Given the description of an element on the screen output the (x, y) to click on. 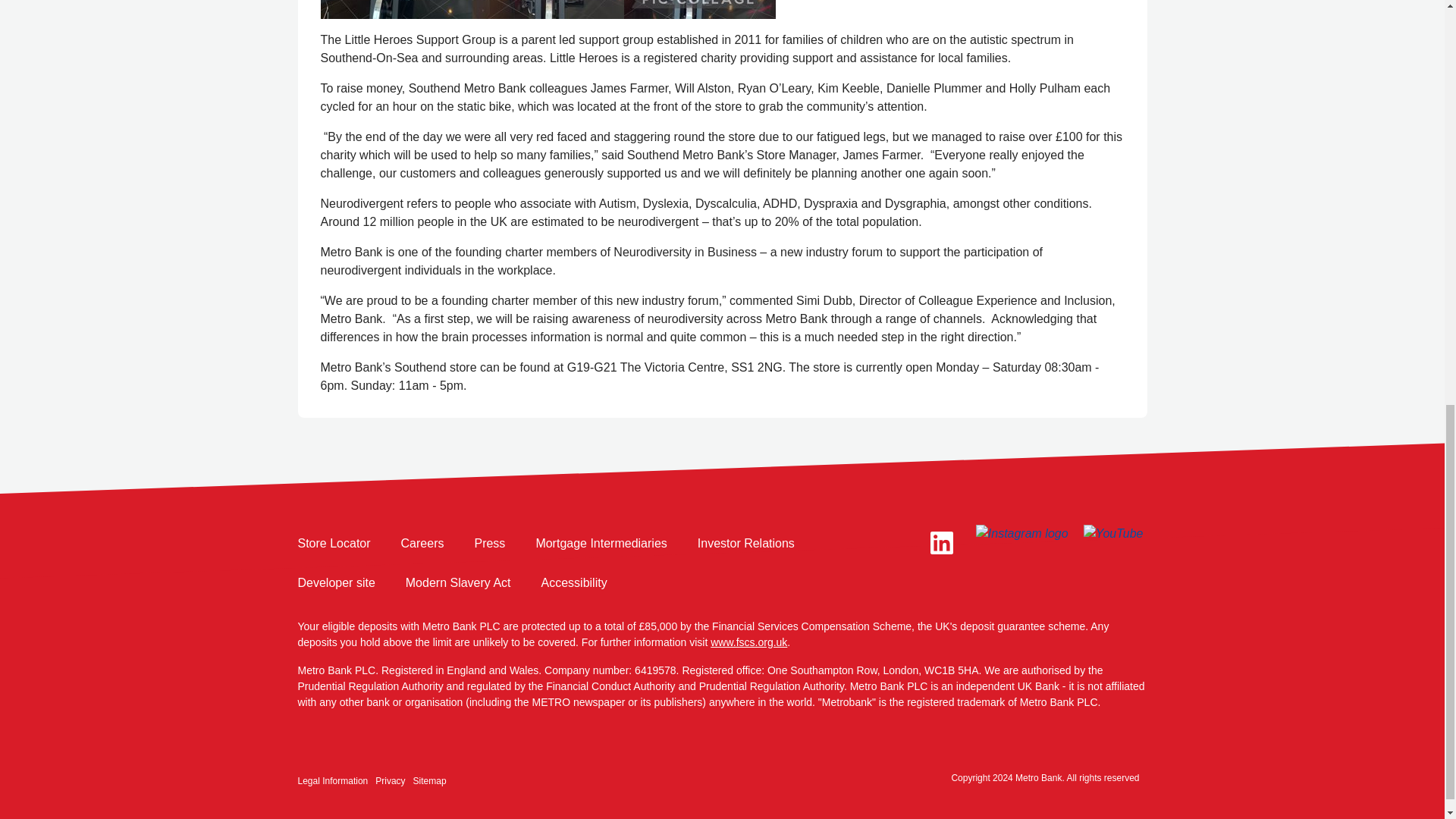
Mortgage Intermediaries (600, 543)
Careers (422, 543)
Accessibility (574, 582)
Store Locator (333, 543)
Investor Relations (745, 543)
Developer site (335, 582)
FSCS Website (748, 642)
Modern Slavery Act (458, 582)
